Given the description of an element on the screen output the (x, y) to click on. 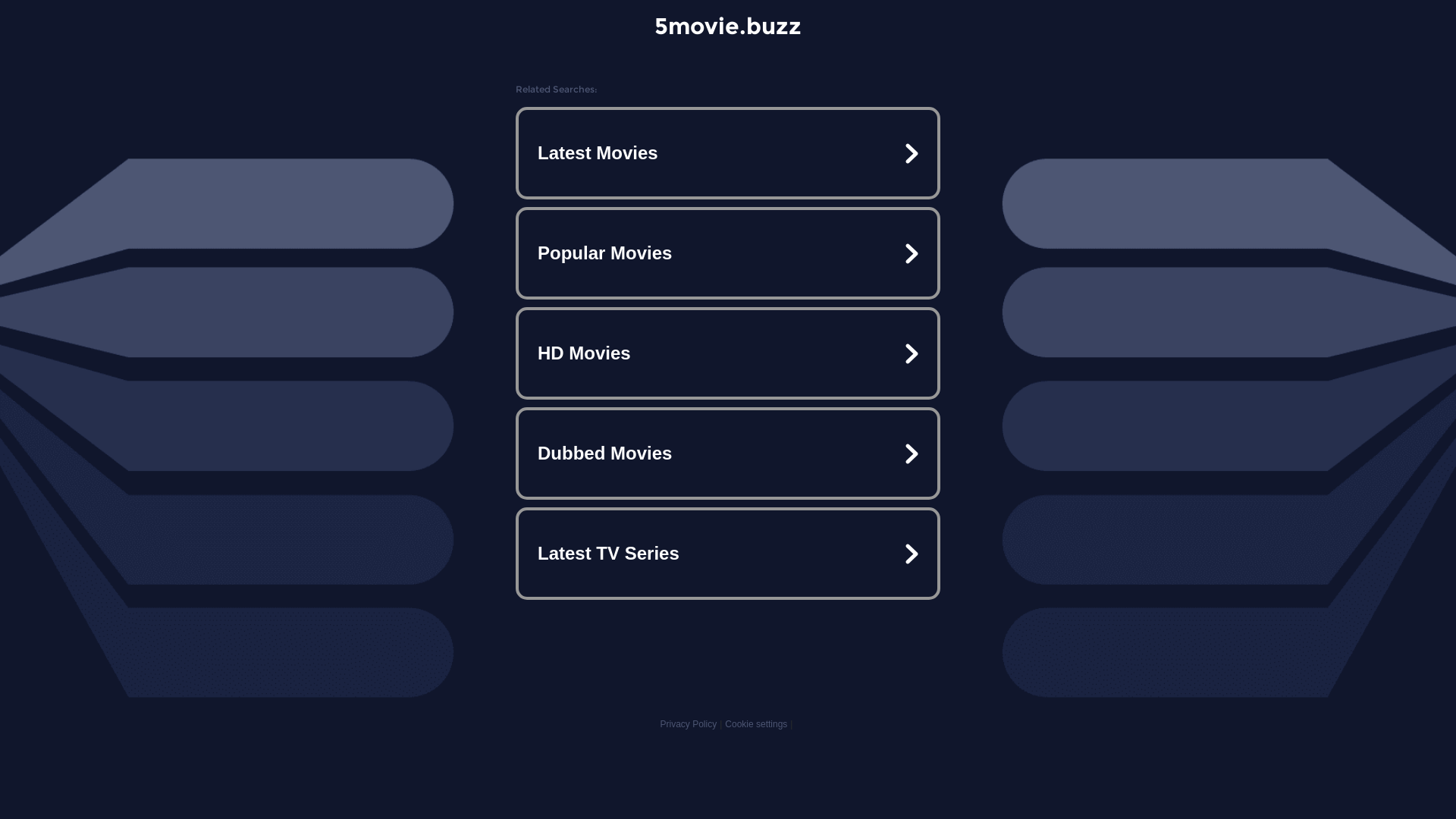
Dubbed Movies Element type: text (727, 453)
Privacy Policy Element type: text (687, 723)
5movie.buzz Element type: text (727, 26)
Latest TV Series Element type: text (727, 553)
Popular Movies Element type: text (727, 253)
Latest Movies Element type: text (727, 152)
Cookie settings Element type: text (755, 723)
HD Movies Element type: text (727, 353)
